Given the description of an element on the screen output the (x, y) to click on. 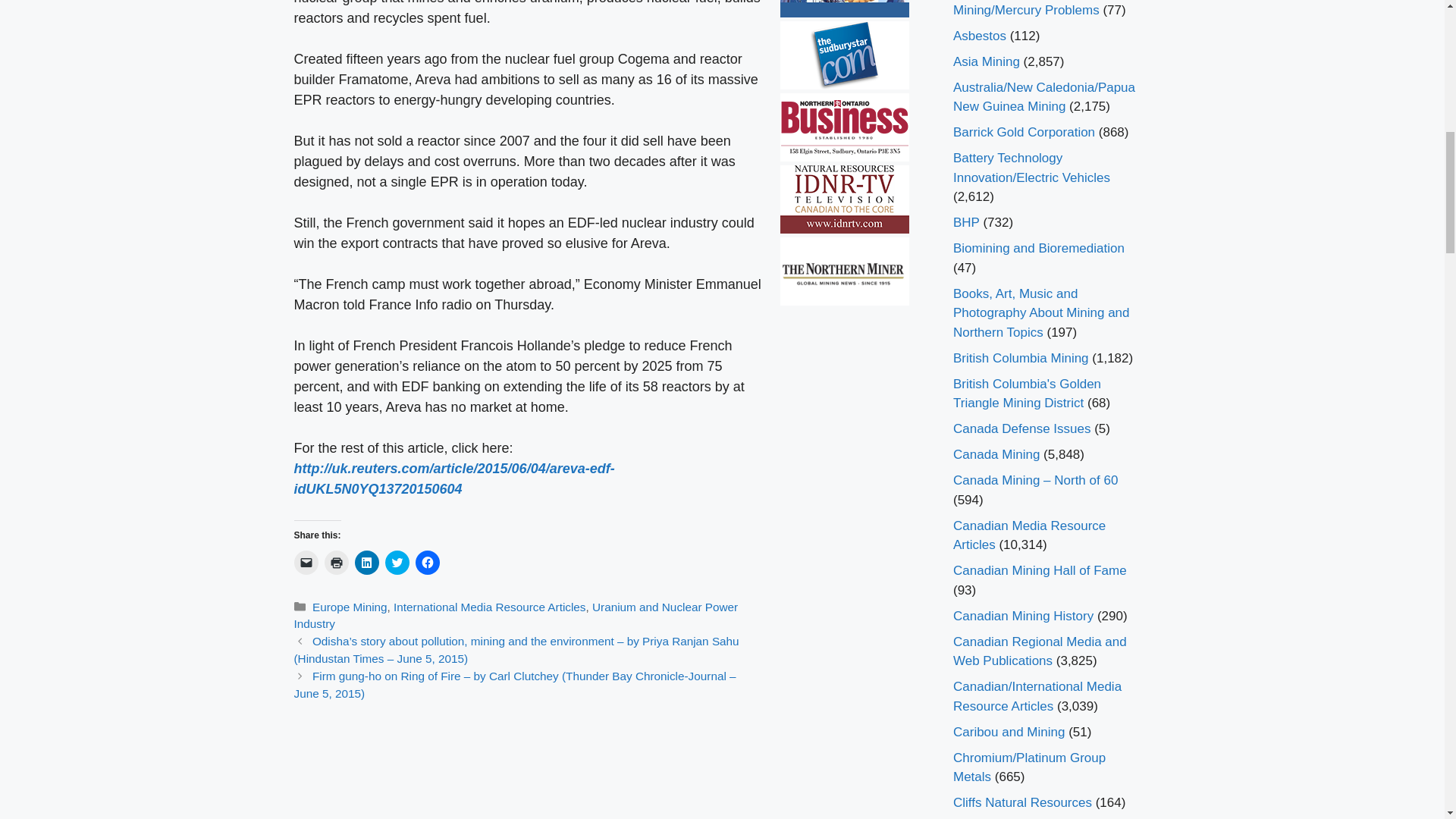
Click to share on Twitter (397, 562)
Click to print (336, 562)
Click to email a link to a friend (306, 562)
Click to share on LinkedIn (366, 562)
Scroll back to top (1406, 720)
Click to share on Facebook (426, 562)
